Given the description of an element on the screen output the (x, y) to click on. 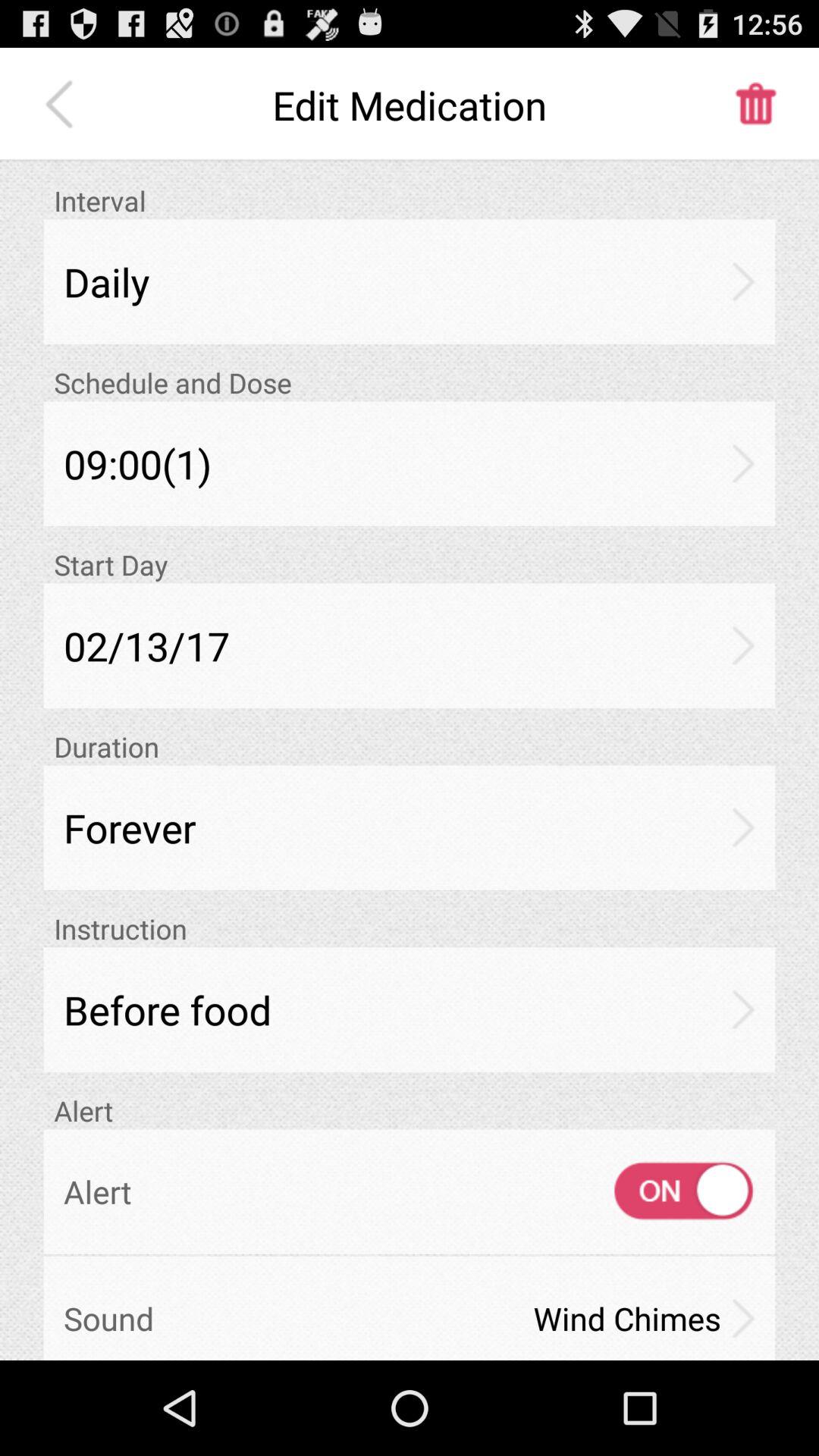
launch the icon above the wind chimes icon (670, 1191)
